Given the description of an element on the screen output the (x, y) to click on. 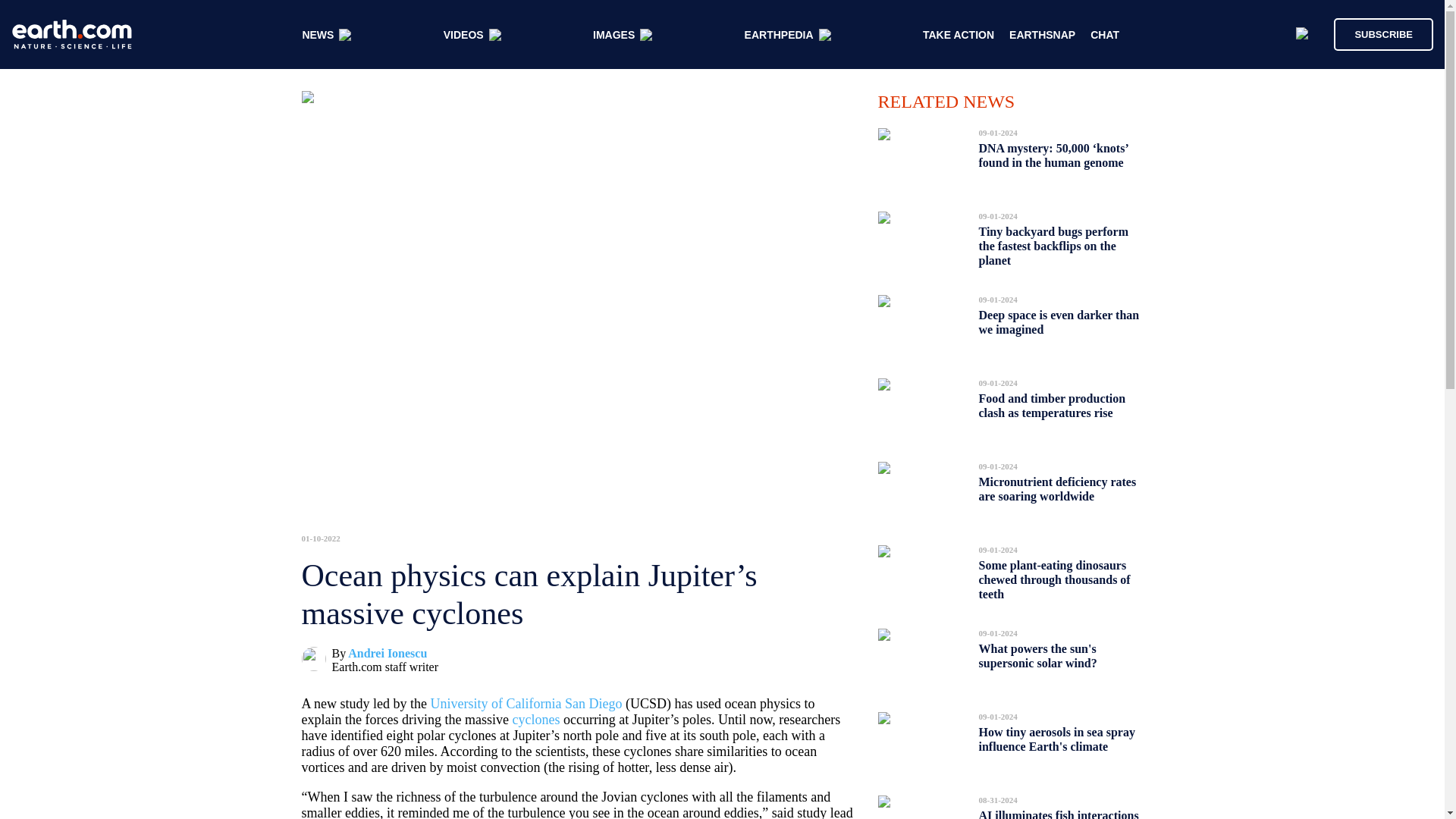
Andrei Ionescu (386, 653)
University of California San Diego (525, 703)
How tiny aerosols in sea spray influence Earth's climate (1056, 739)
What powers the sun's supersonic solar wind? (1037, 655)
SUBSCRIBE (1375, 33)
Food and timber production clash as temperatures rise (1051, 405)
SUBSCRIBE (1382, 34)
EARTHSNAP (1042, 34)
cyclones (535, 719)
